Given the description of an element on the screen output the (x, y) to click on. 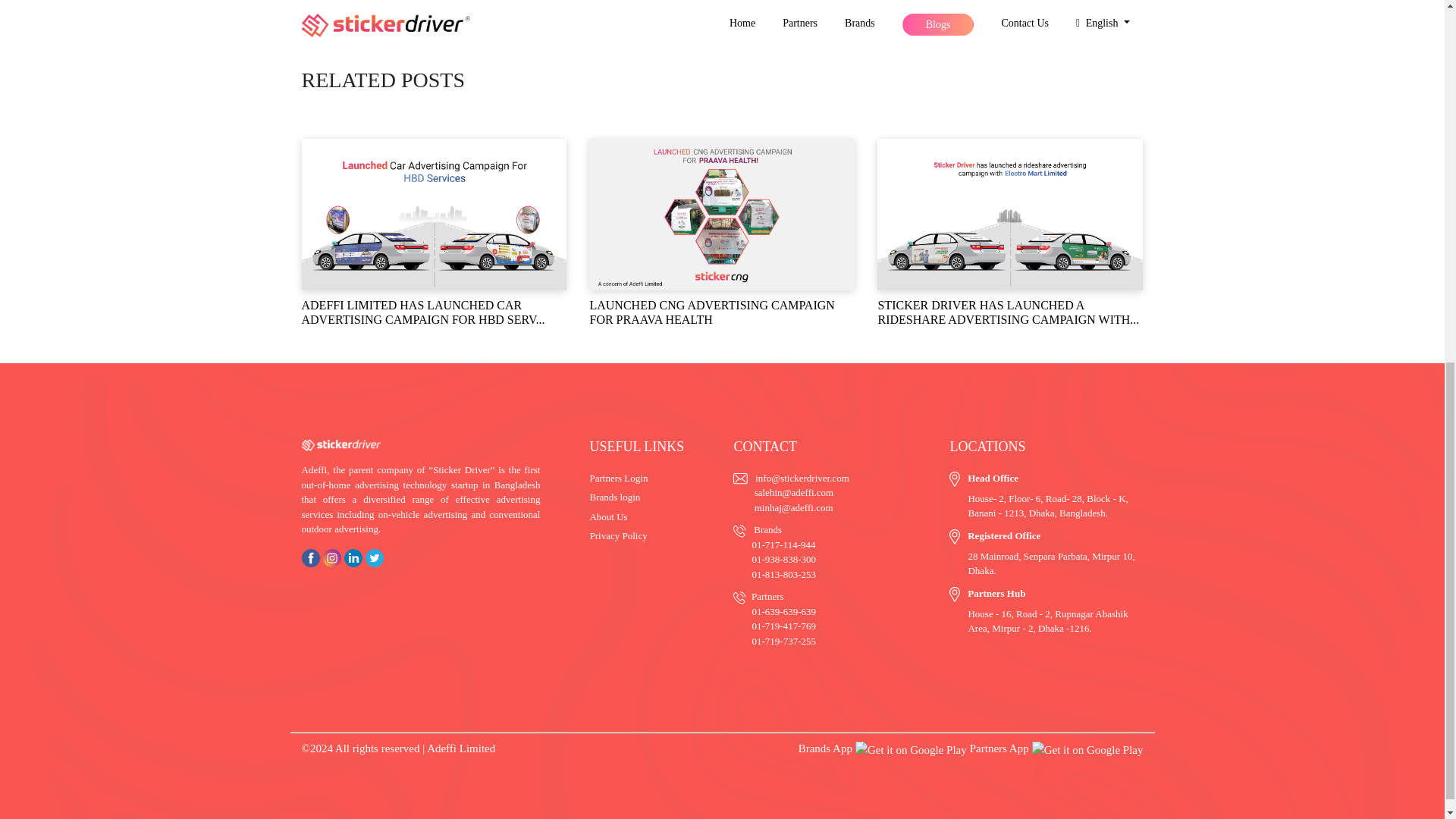
01-813-803-253 (783, 573)
Brands login (614, 496)
01-938-838-300 (783, 559)
Launched CNG Advertising Campaign For Root Food! (1009, 308)
01-639-639-639 (783, 611)
01-719-737-255 (783, 641)
About Us (608, 516)
01-719-417-769 (783, 625)
